Given the description of an element on the screen output the (x, y) to click on. 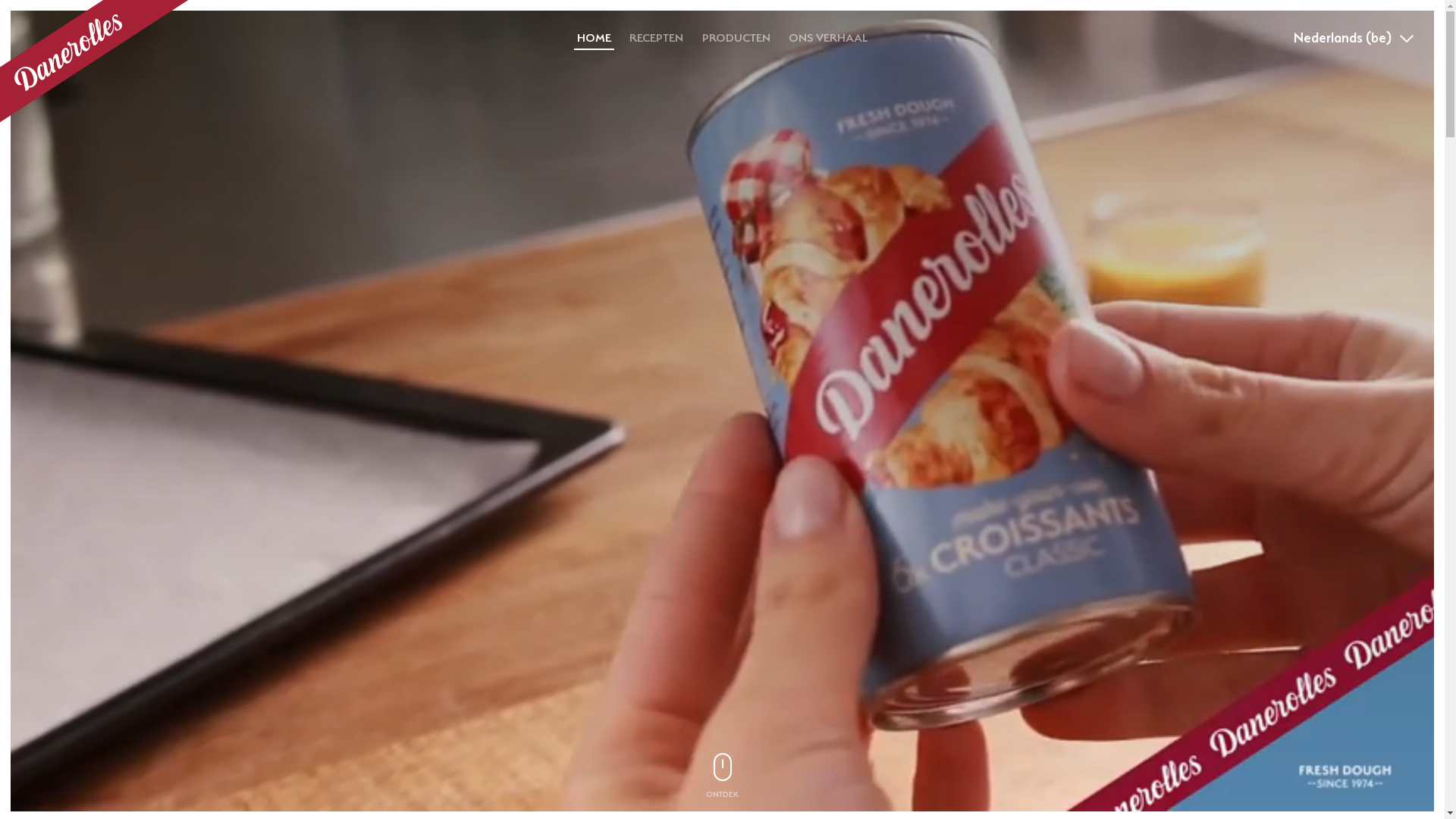
PRODUCTEN Element type: text (736, 38)
RECEPTEN Element type: text (655, 38)
ONS VERHAAL Element type: text (828, 38)
Danerolles Element type: hover (94, 61)
HOME Element type: text (593, 38)
